Given the description of an element on the screen output the (x, y) to click on. 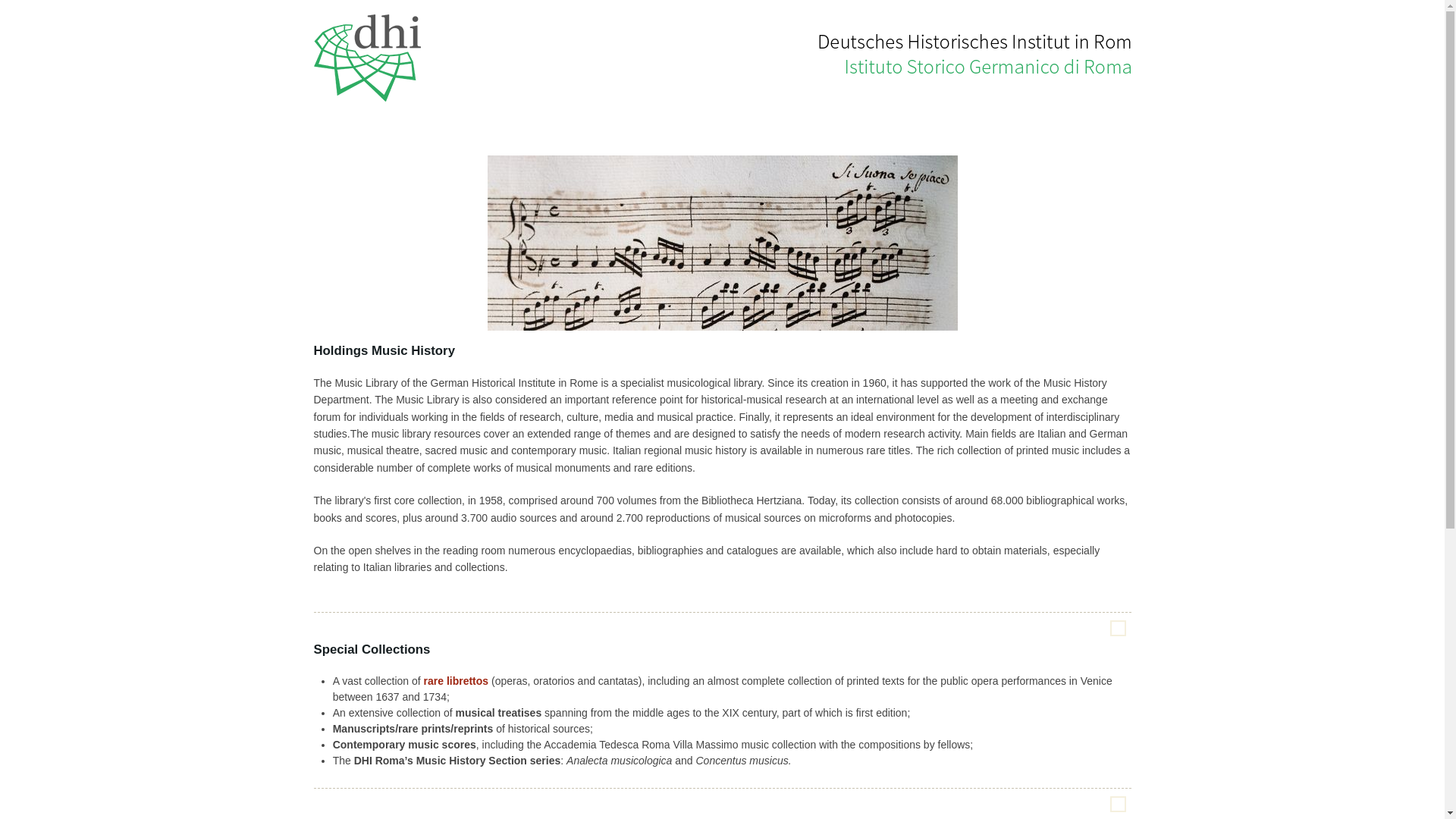
DHI Rom (368, 56)
To top (1117, 627)
ITALIANO (1110, 5)
DEUTSCH (1065, 5)
To top (1117, 804)
GERMAN HISTORICAL INSTITUTE IN ROME (943, 5)
